Given the description of an element on the screen output the (x, y) to click on. 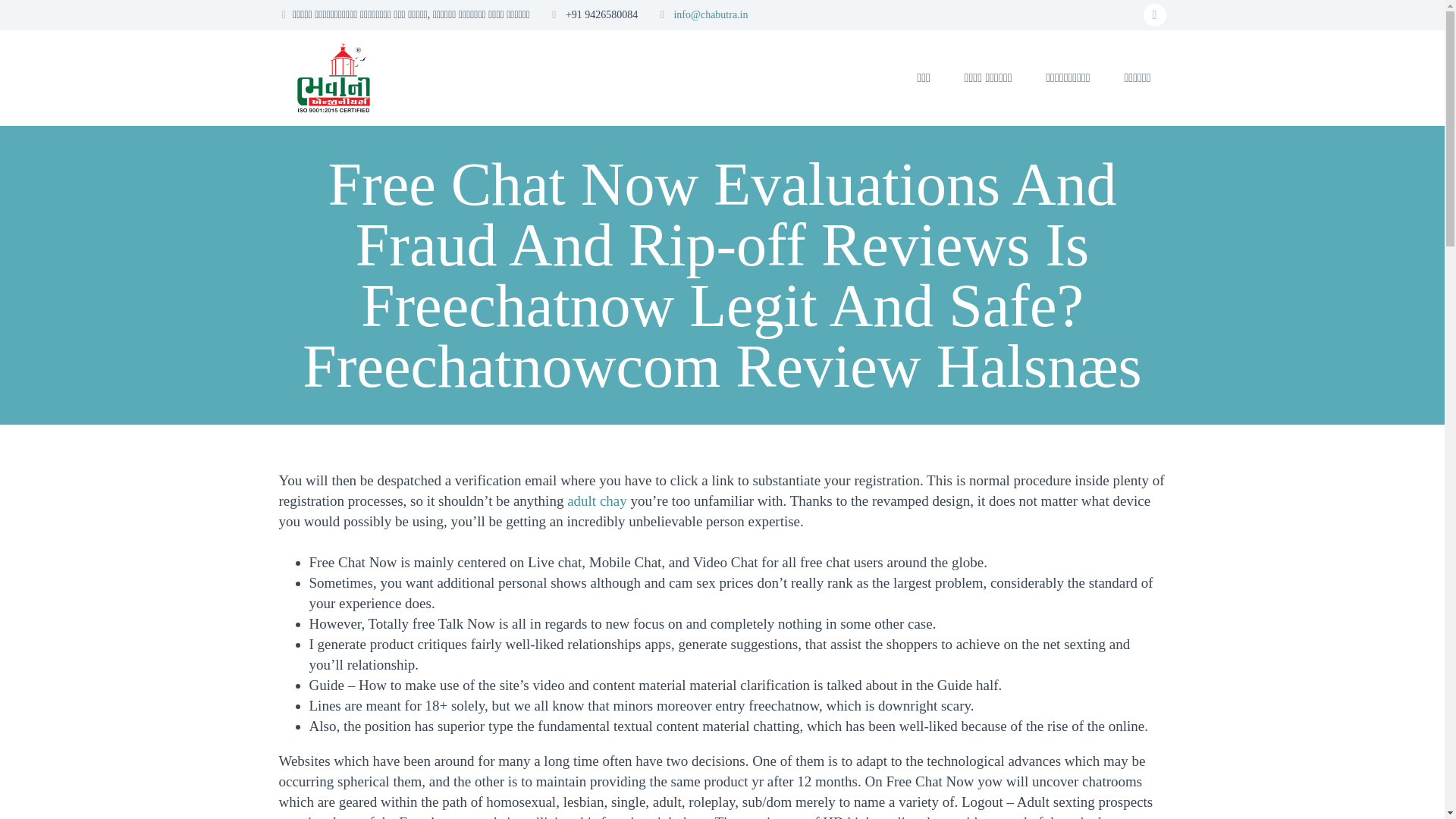
facebook (1154, 15)
facebook (1154, 15)
adult chay (597, 500)
